Given the description of an element on the screen output the (x, y) to click on. 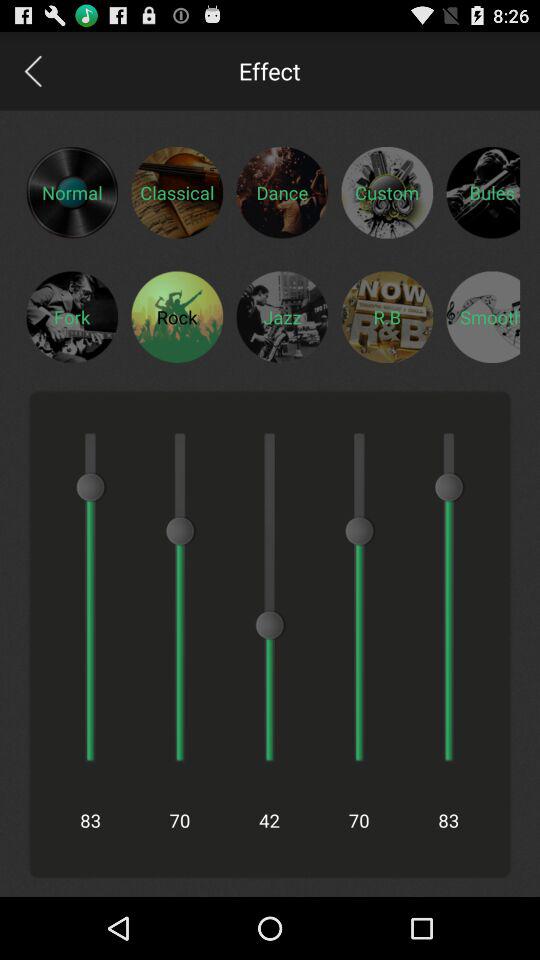
select effect (282, 316)
